Given the description of an element on the screen output the (x, y) to click on. 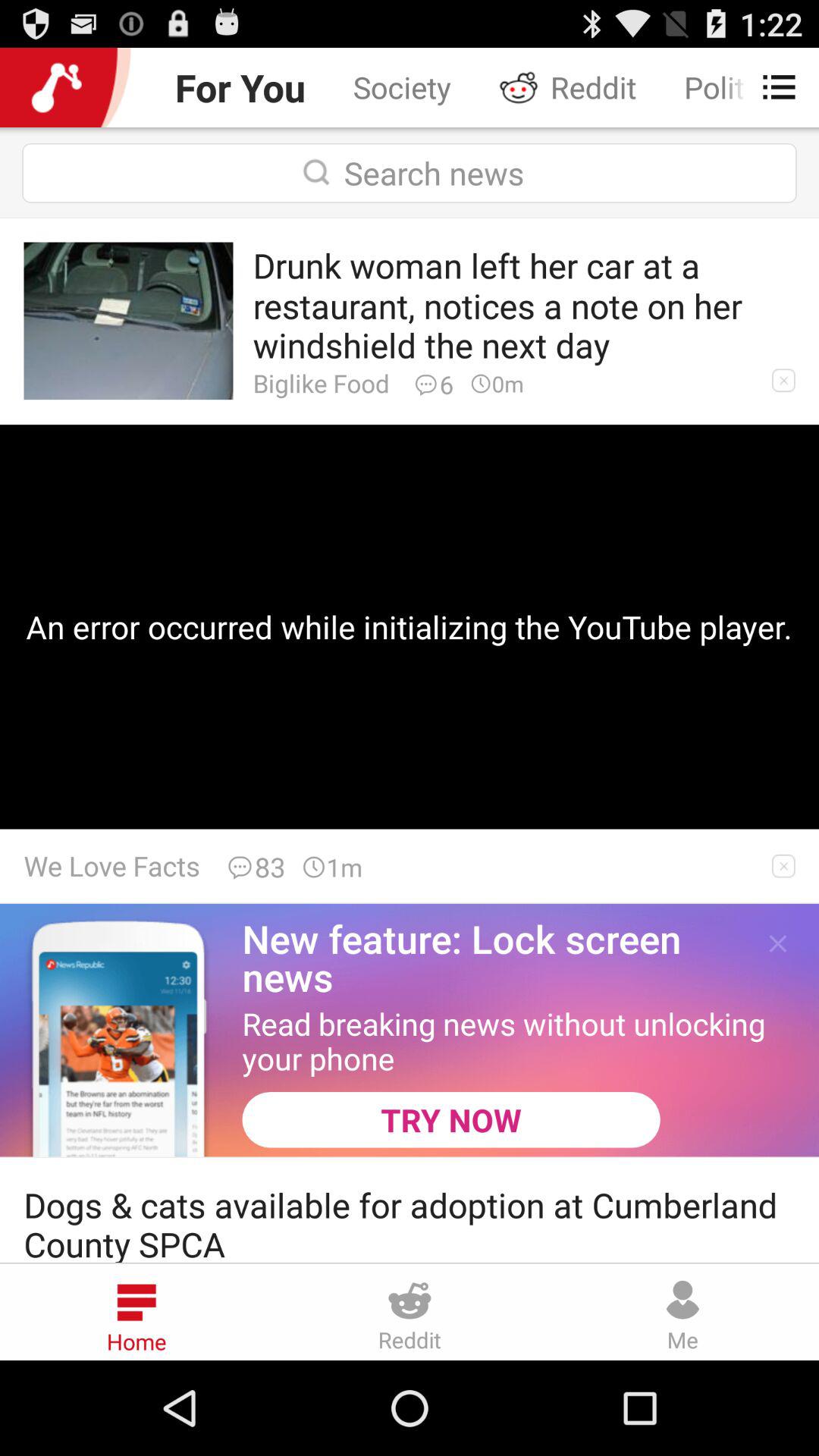
turn off the app above read breaking news item (777, 943)
